Given the description of an element on the screen output the (x, y) to click on. 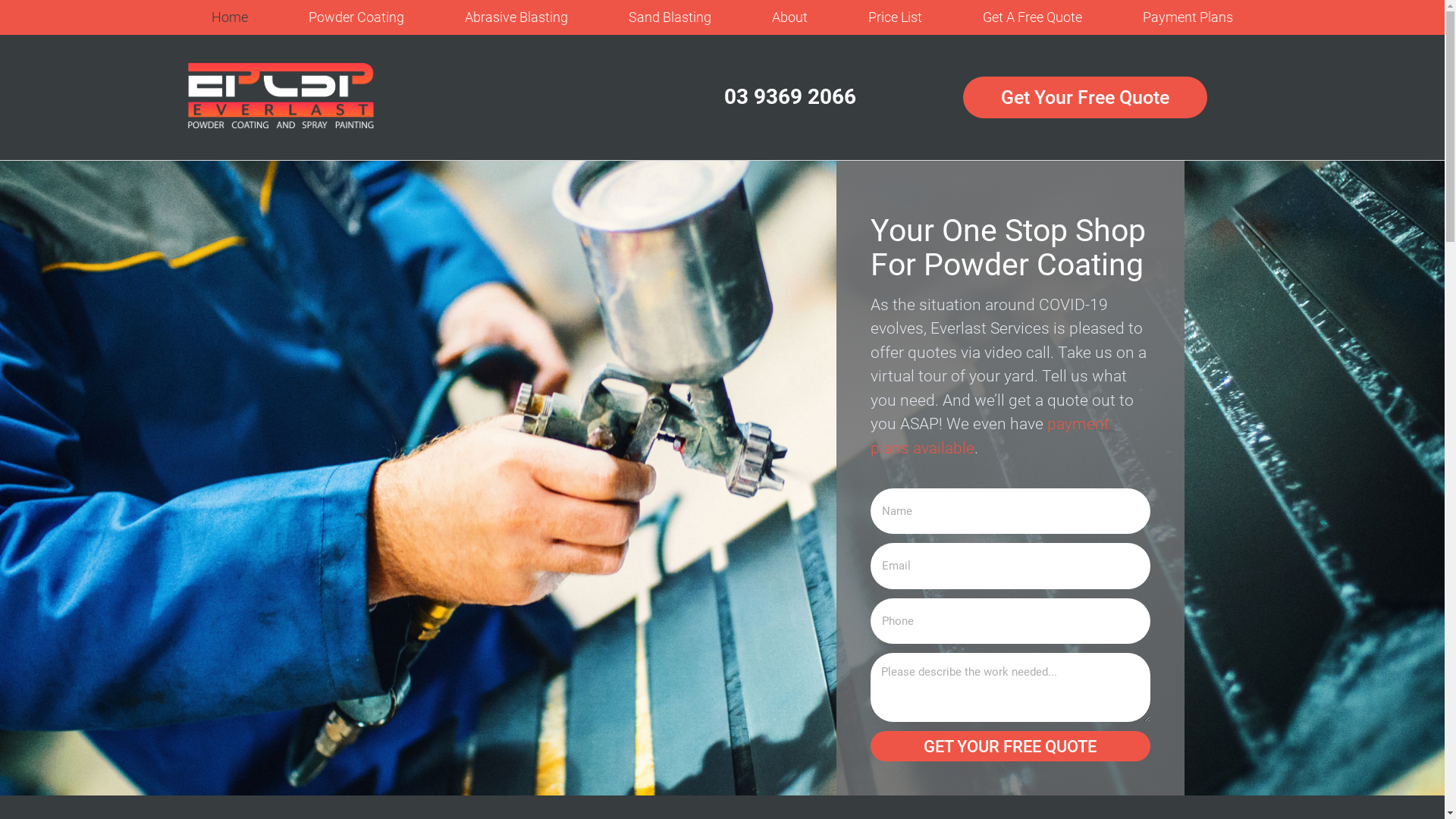
Get A Free Quote Element type: text (1032, 17)
Powder Coating Element type: text (356, 17)
03 9369 2066 Element type: text (790, 96)
About Element type: text (789, 17)
payment plans available Element type: text (989, 435)
Price List Element type: text (894, 17)
Abrasive Blasting Element type: text (516, 17)
GET YOUR FREE QUOTE Element type: text (1010, 746)
Sand Blasting Element type: text (669, 17)
Home Element type: text (229, 17)
Get Your Free Quote Element type: text (1085, 97)
Payment Plans Element type: text (1187, 17)
